Given the description of an element on the screen output the (x, y) to click on. 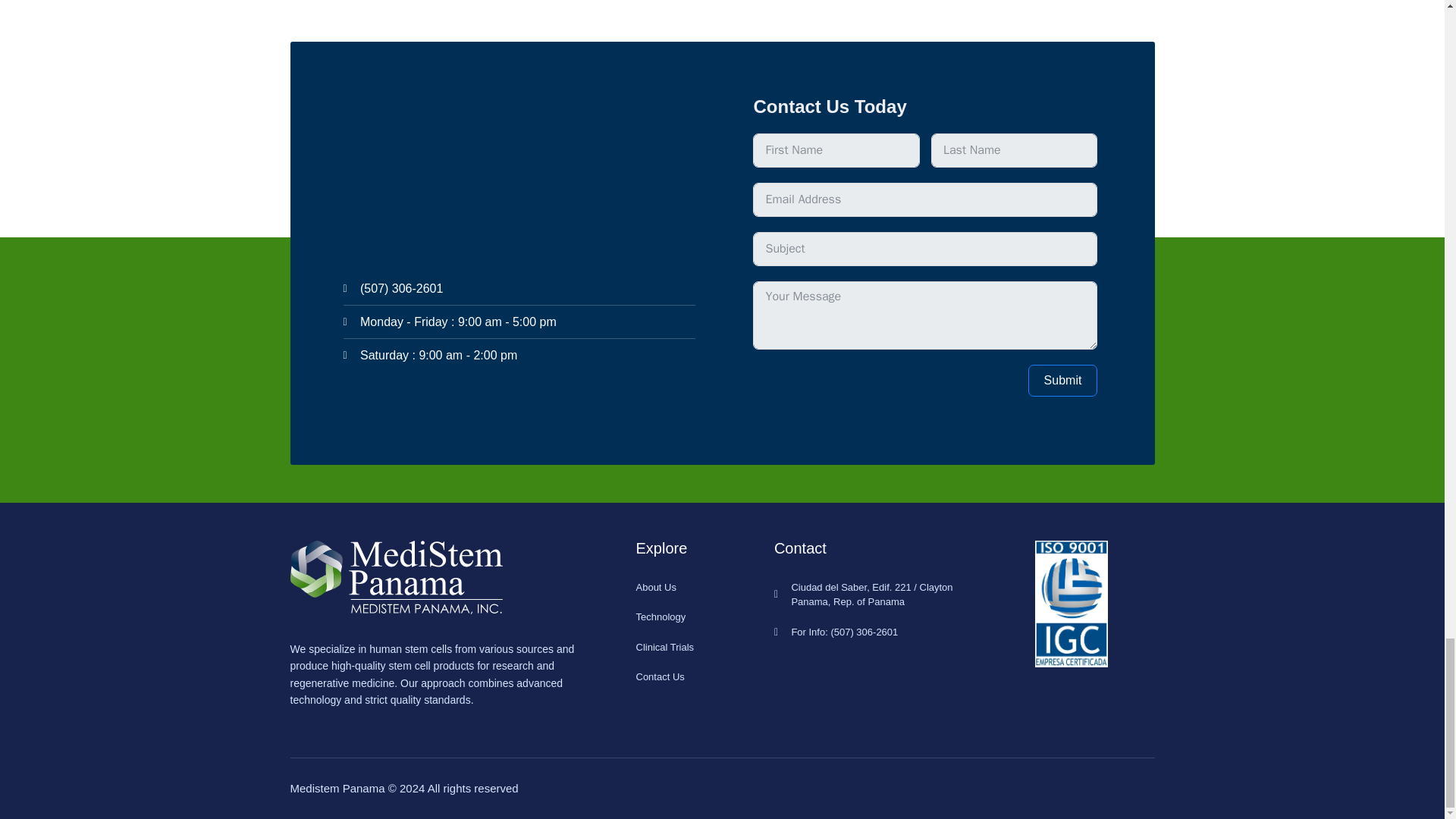
medistem panama (518, 172)
About Us (703, 587)
Contact Us (703, 676)
Technology (703, 616)
Submit (1062, 380)
Clinical Trials (703, 647)
